Given the description of an element on the screen output the (x, y) to click on. 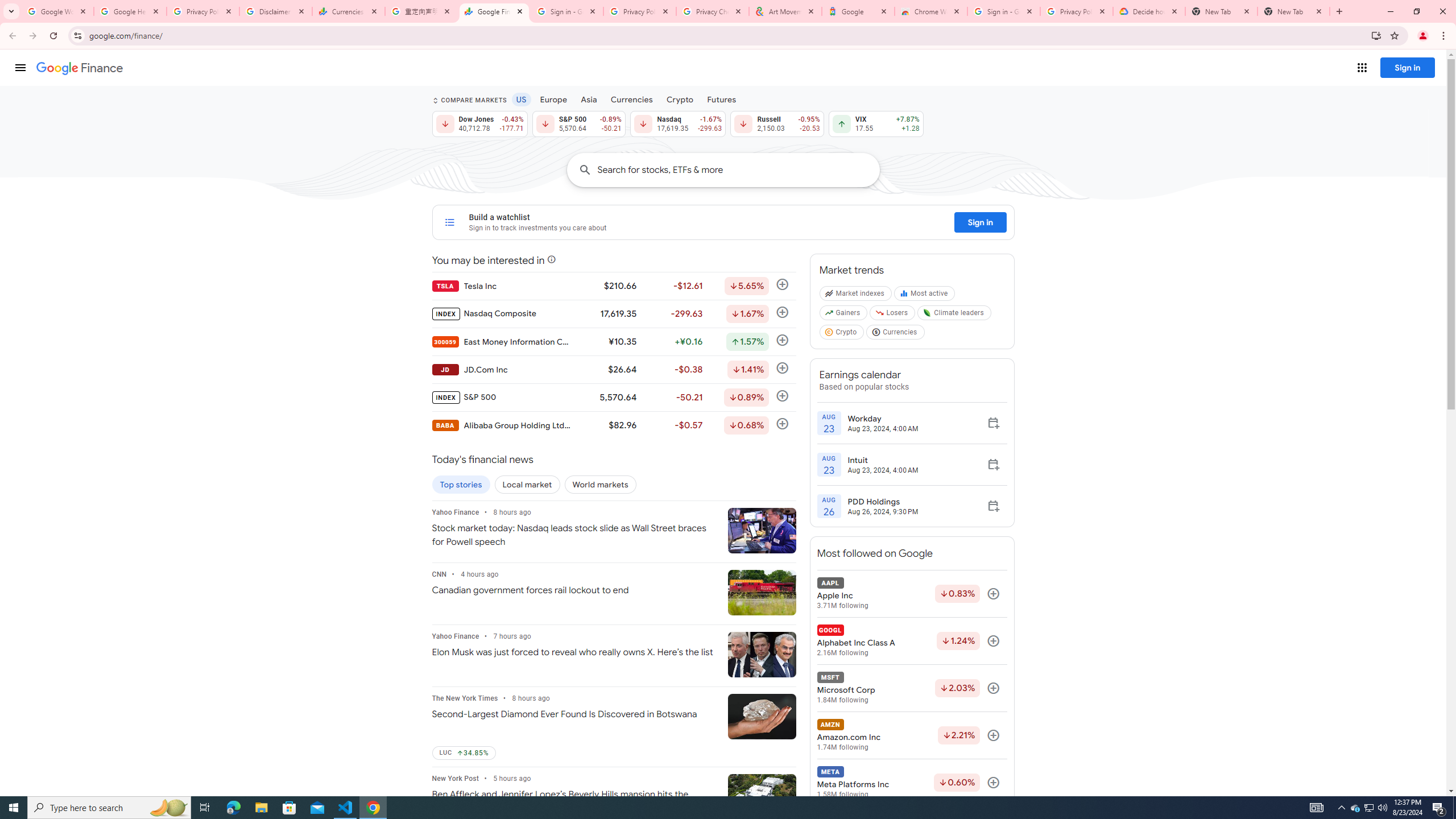
Dow Jones 40,712.78 Down by 0.43% -177.71 (478, 123)
GLeaf logo Climate leaders (954, 315)
JD JD.Com Inc $26.64 -$0.38 Down by 1.41% Follow (613, 369)
Sign in - Google Accounts (566, 11)
TSLA Tesla Inc $210.66 -$12.61 Down by 5.65% Follow (613, 285)
Sign in (980, 222)
Crypto (679, 99)
Install Google Finance (1376, 35)
